Given the description of an element on the screen output the (x, y) to click on. 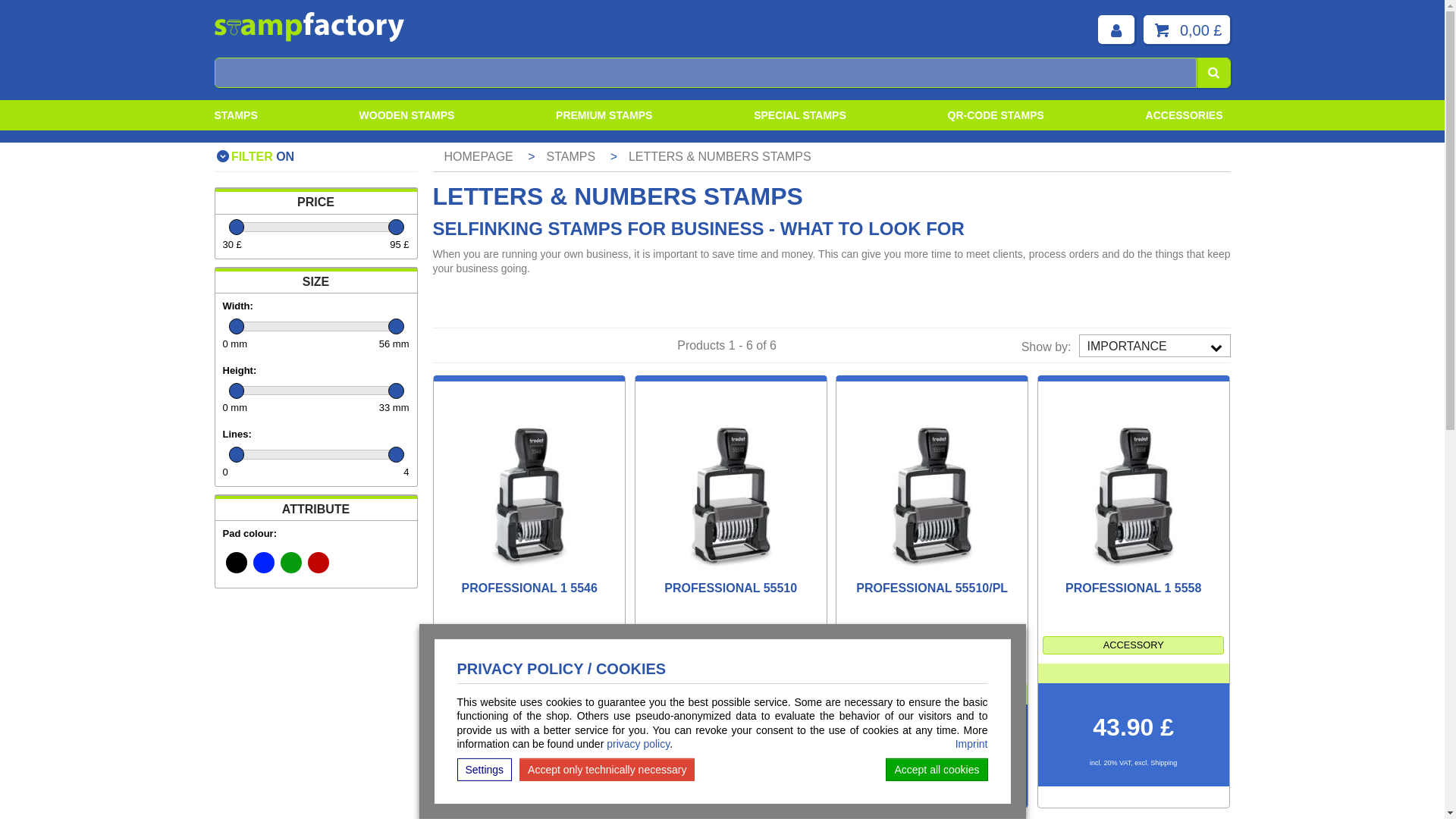
Shopping basket (1186, 29)
STAMPS (235, 114)
My account (1116, 29)
Stamps (235, 114)
WOODEN STAMPS (406, 114)
privacy policy (638, 743)
Imprint (971, 744)
